Given the description of an element on the screen output the (x, y) to click on. 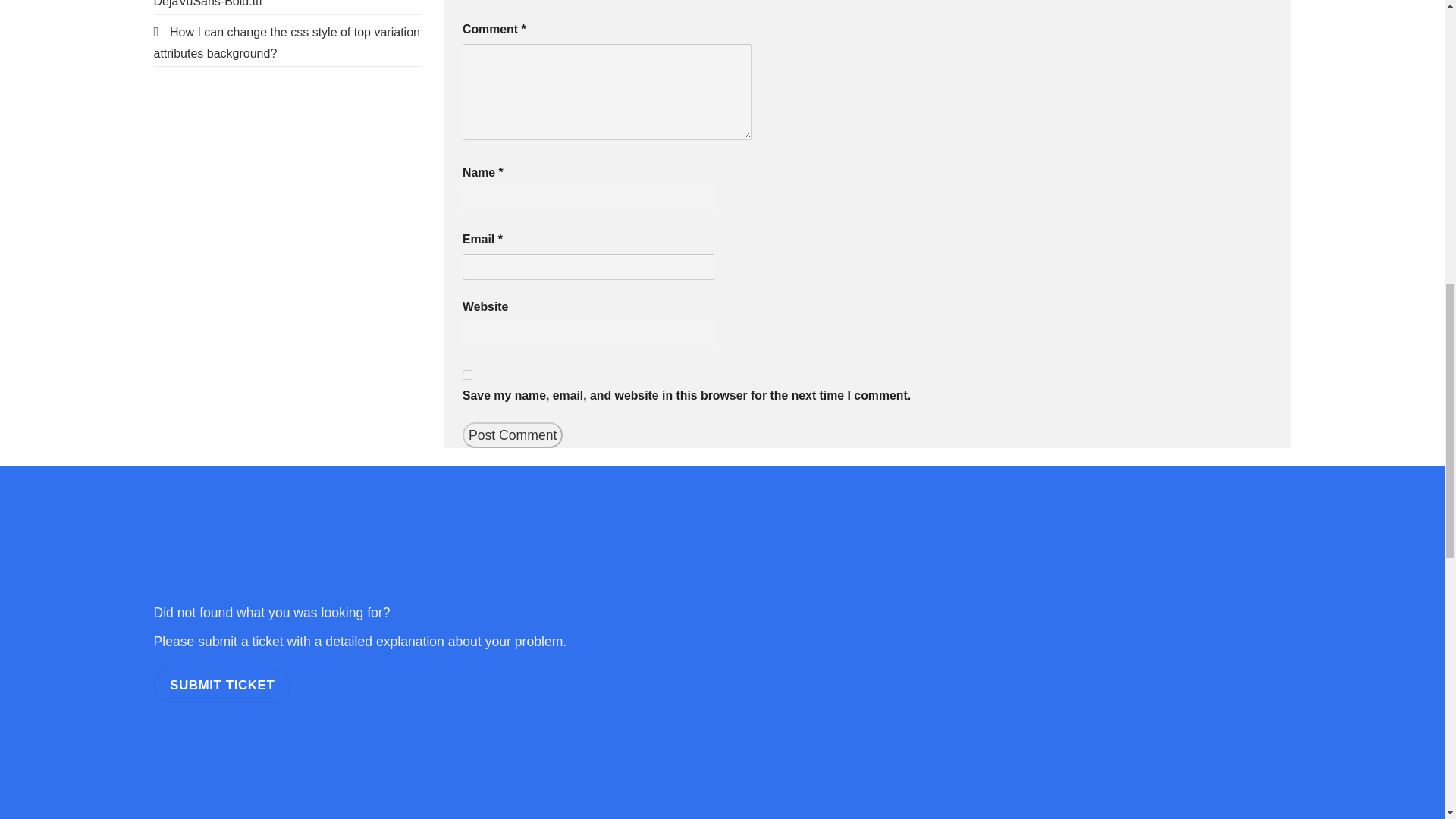
yes (467, 375)
Post Comment (512, 434)
Post Comment (512, 434)
